Given the description of an element on the screen output the (x, y) to click on. 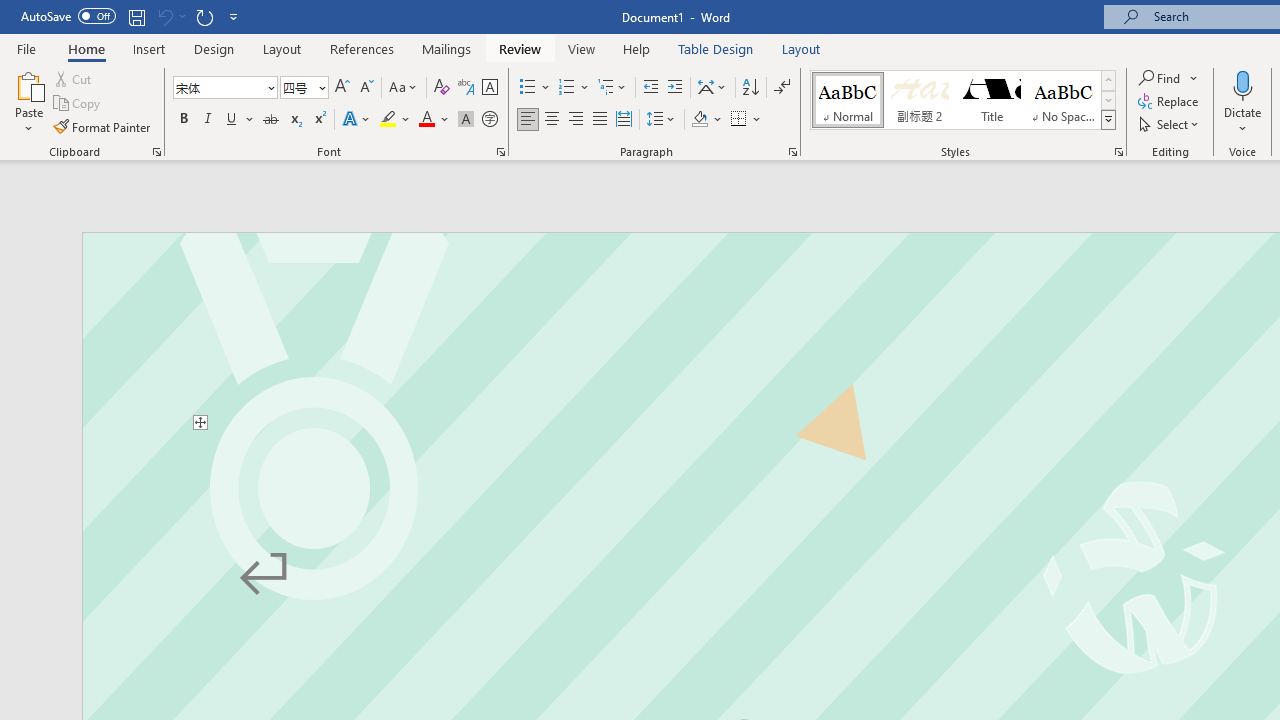
Paragraph... (792, 151)
Justify (599, 119)
Shading RGB(0, 0, 0) (699, 119)
Clear Formatting (442, 87)
Cut (73, 78)
Select (1170, 124)
Copy (78, 103)
Superscript (319, 119)
Row up (1108, 79)
